Given the description of an element on the screen output the (x, y) to click on. 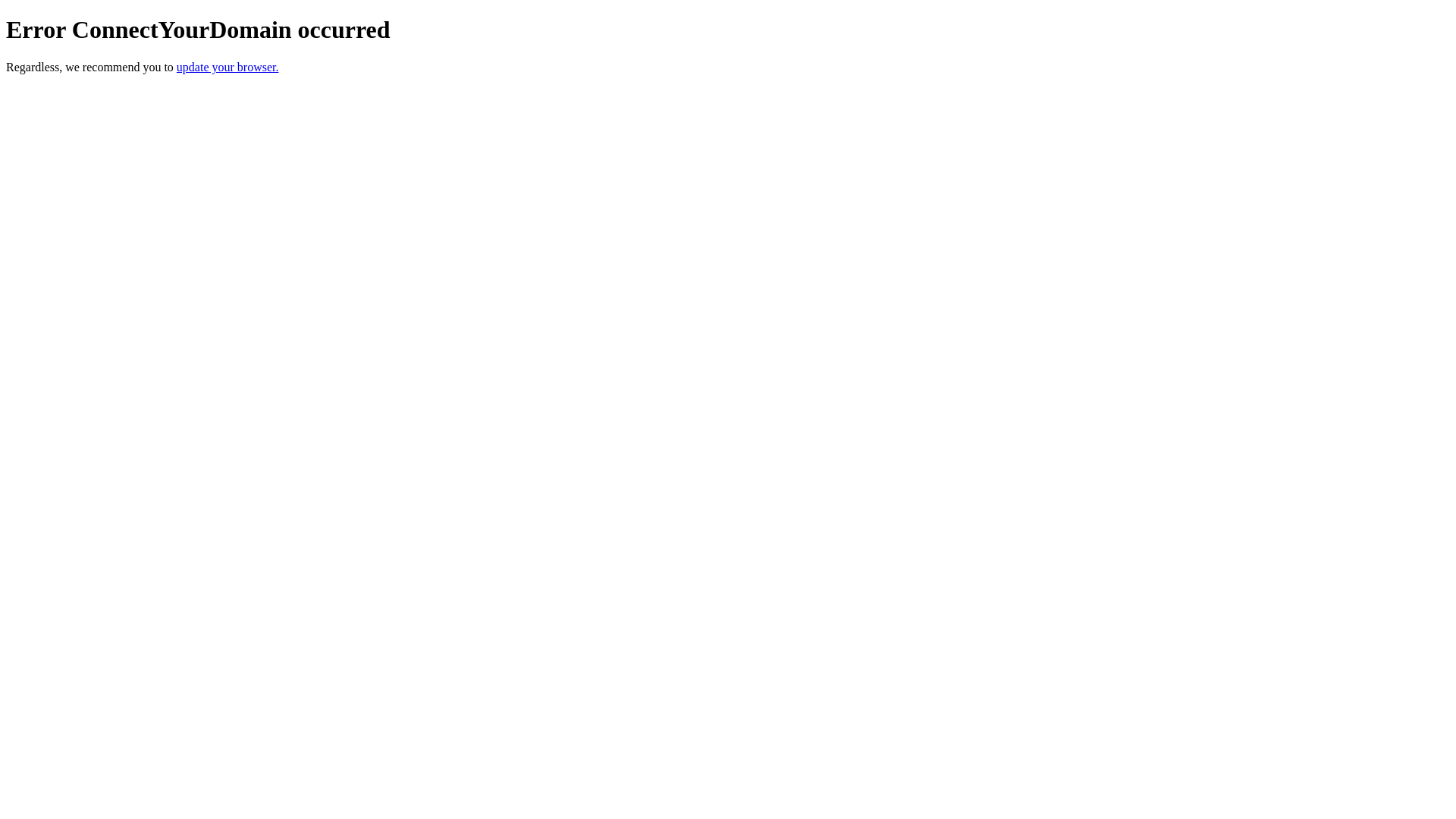
update your browser. Element type: text (227, 66)
